Given the description of an element on the screen output the (x, y) to click on. 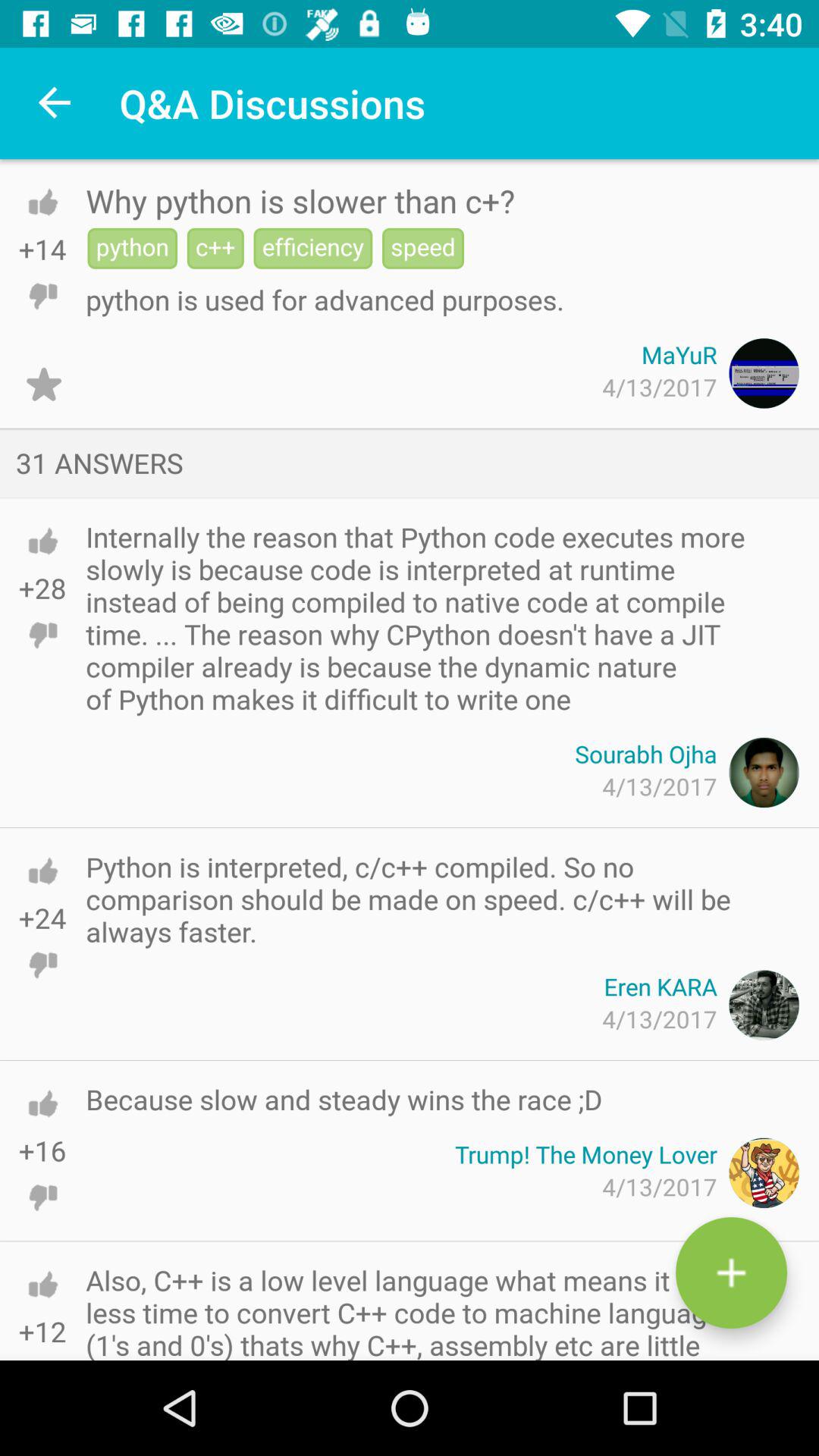
pick thumbs down (42, 1197)
